Given the description of an element on the screen output the (x, y) to click on. 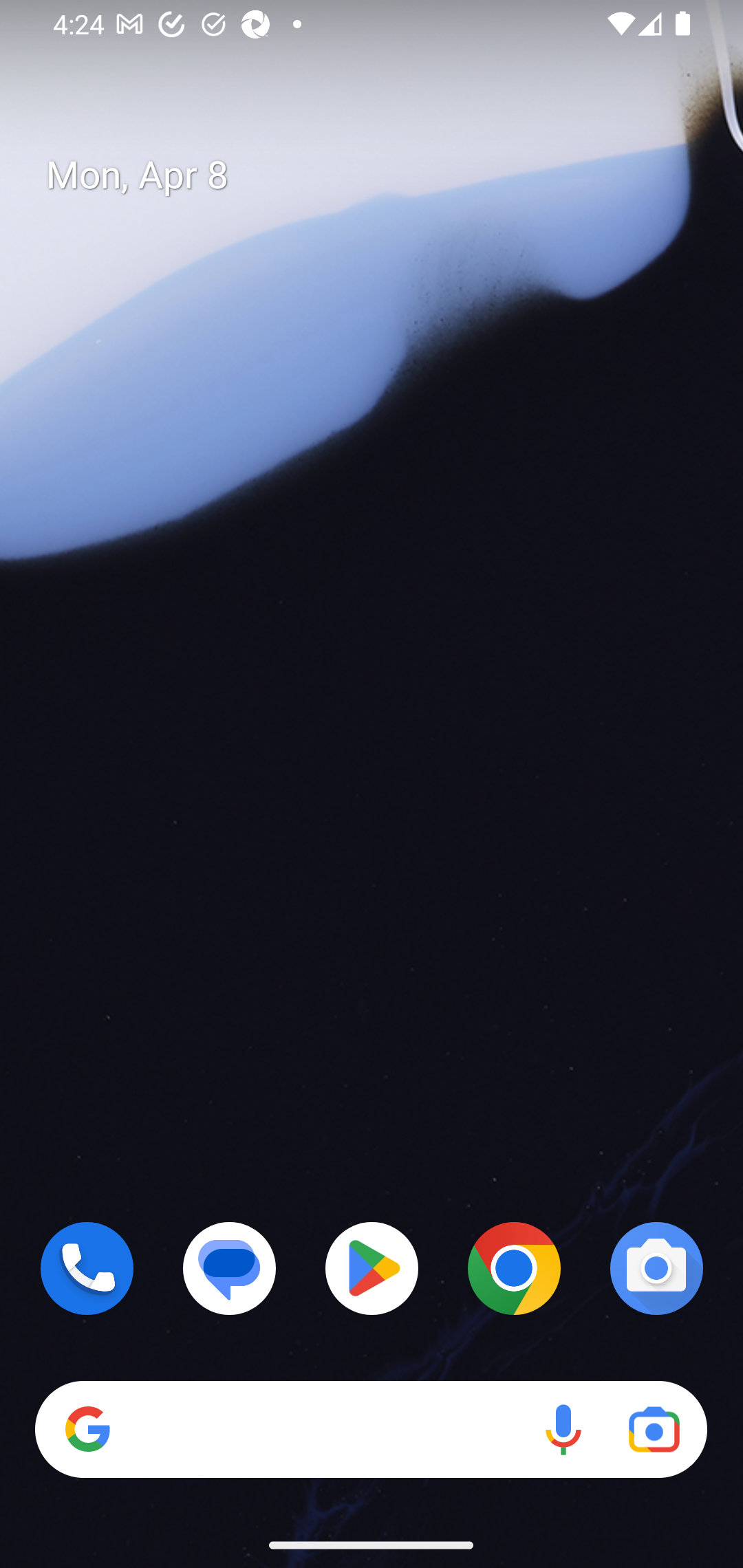
Mon, Apr 8 (386, 175)
Phone (86, 1268)
Messages (229, 1268)
Play Store (371, 1268)
Chrome (513, 1268)
Camera (656, 1268)
Search Voice search Google Lens (370, 1429)
Voice search (562, 1429)
Google Lens (653, 1429)
